Given the description of an element on the screen output the (x, y) to click on. 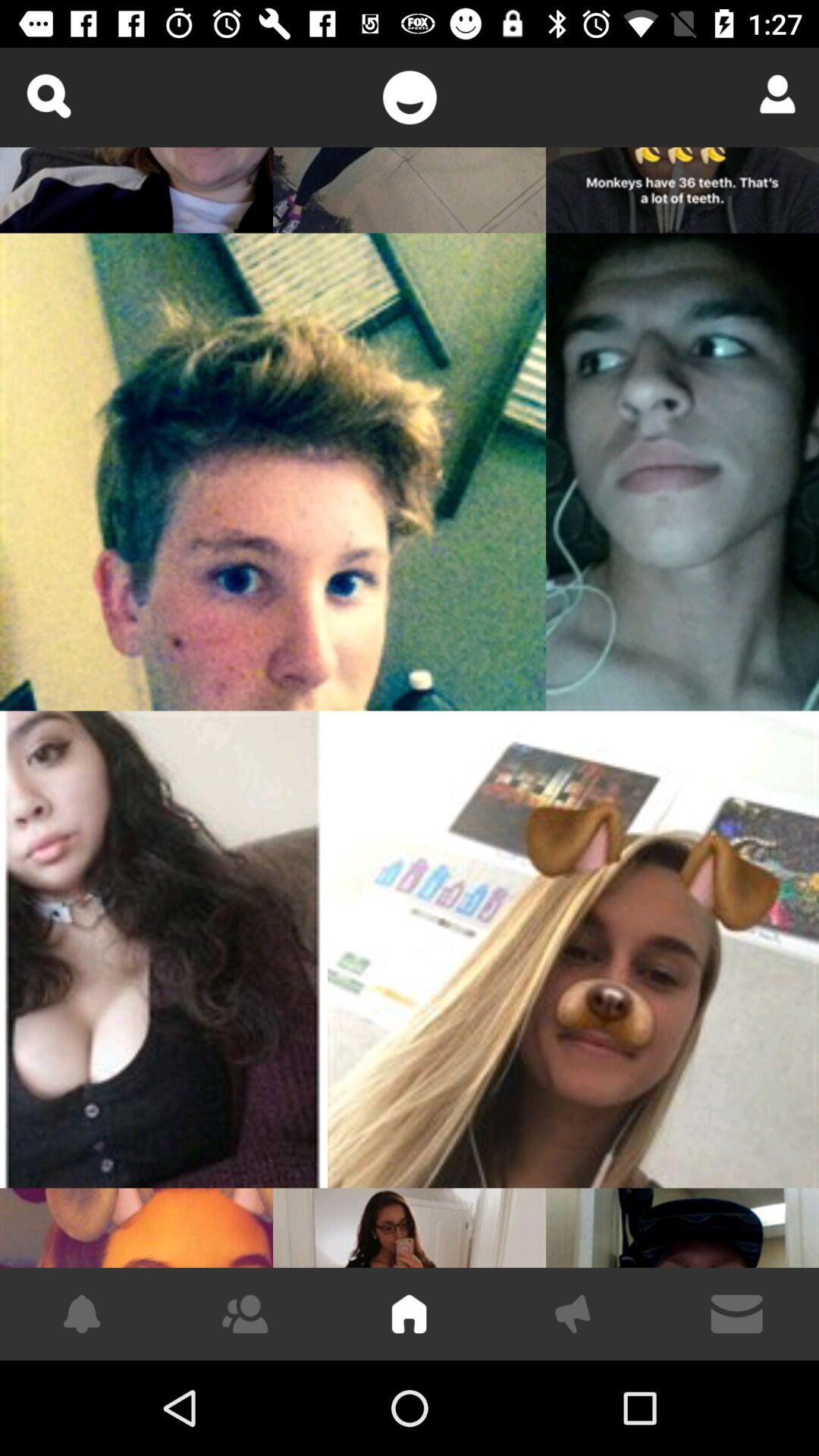
press icon on the left (163, 949)
